Given the description of an element on the screen output the (x, y) to click on. 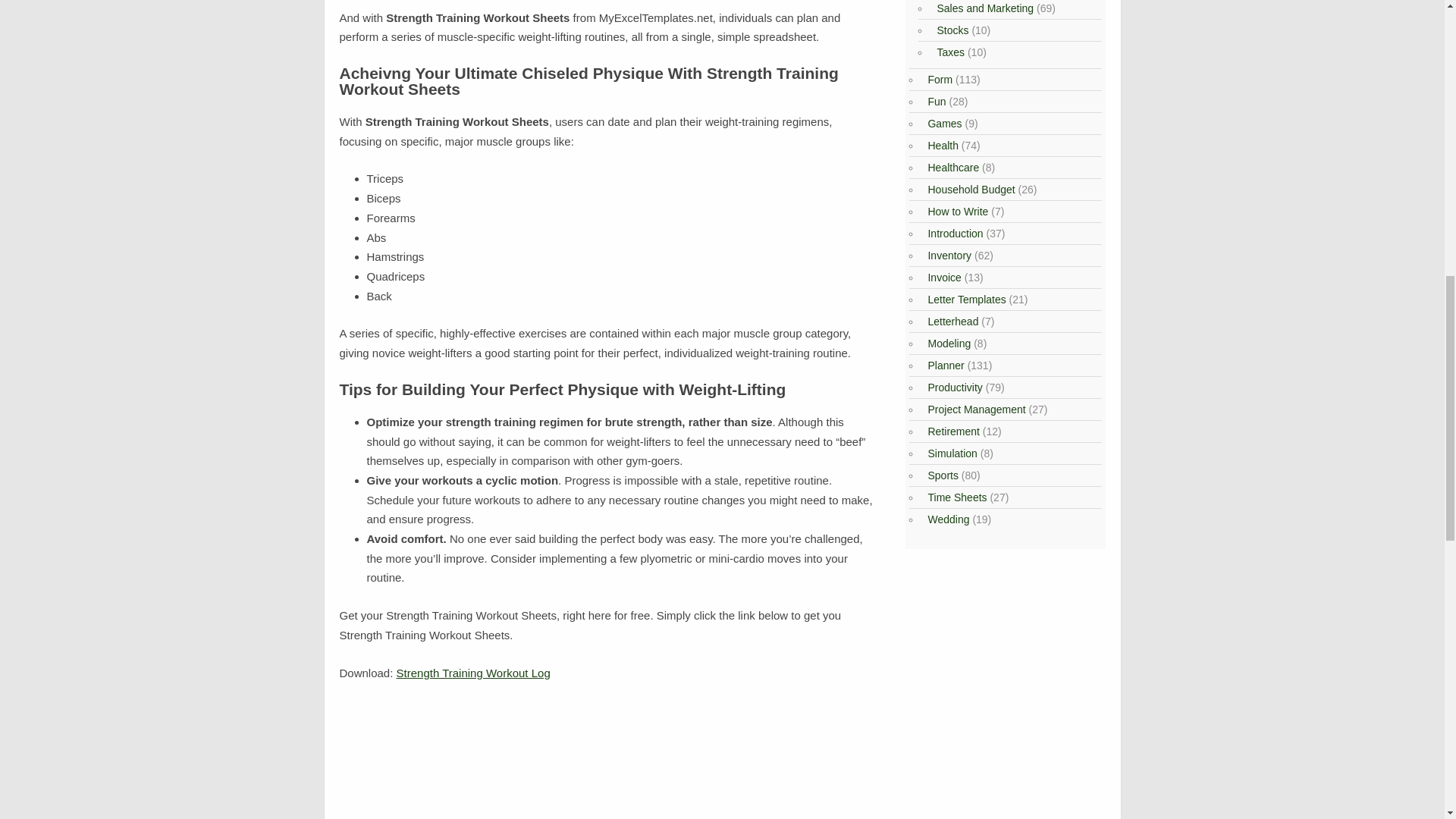
Strength Training Workout Log (473, 672)
